Given the description of an element on the screen output the (x, y) to click on. 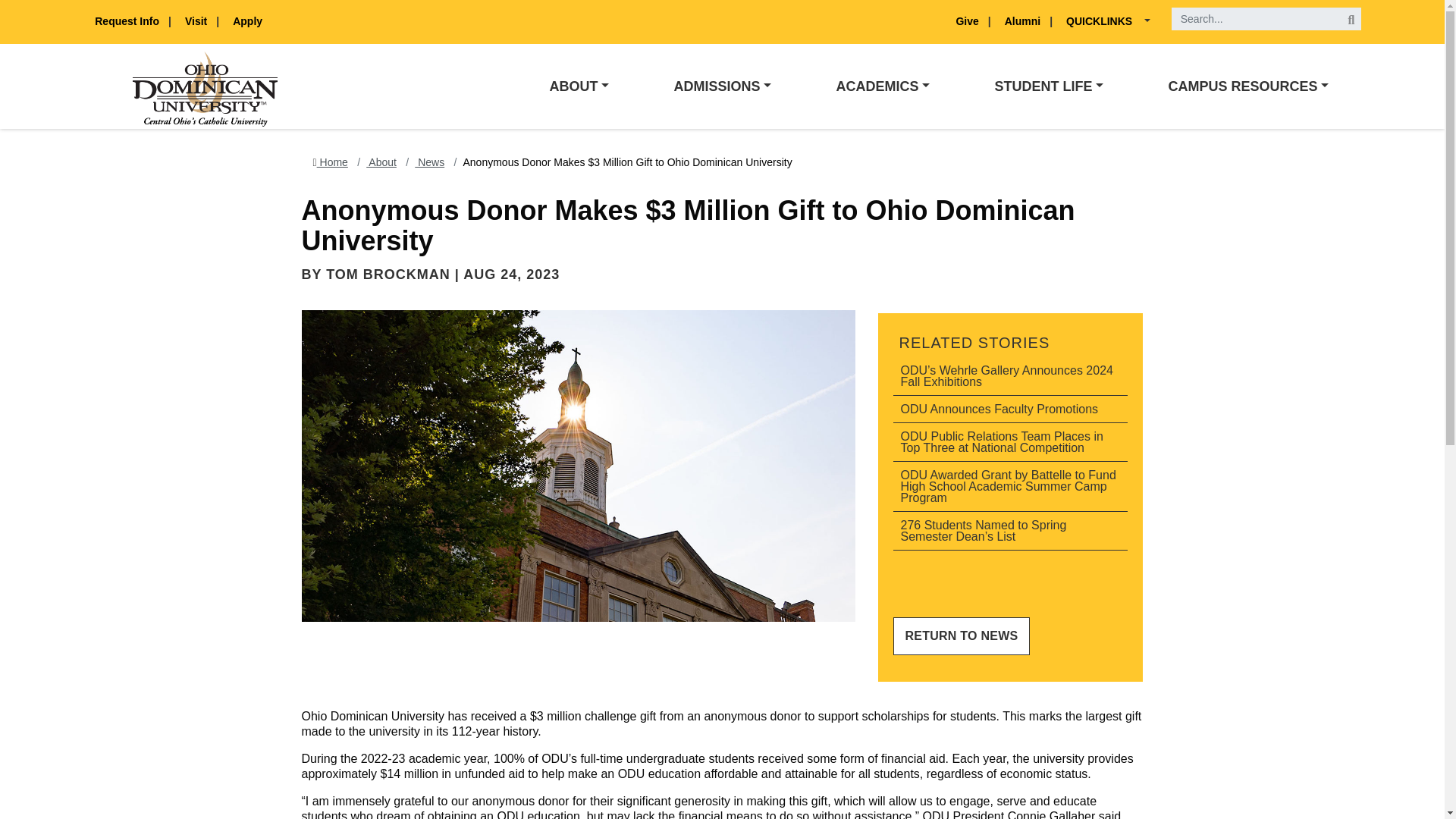
Apply (247, 21)
QUICKLINKS (1103, 21)
Request Info (127, 21)
Visit (197, 21)
Give (967, 21)
Alumni (1023, 21)
ABOUT (579, 85)
ADMISSIONS (722, 85)
ousearchq (1266, 18)
